Given the description of an element on the screen output the (x, y) to click on. 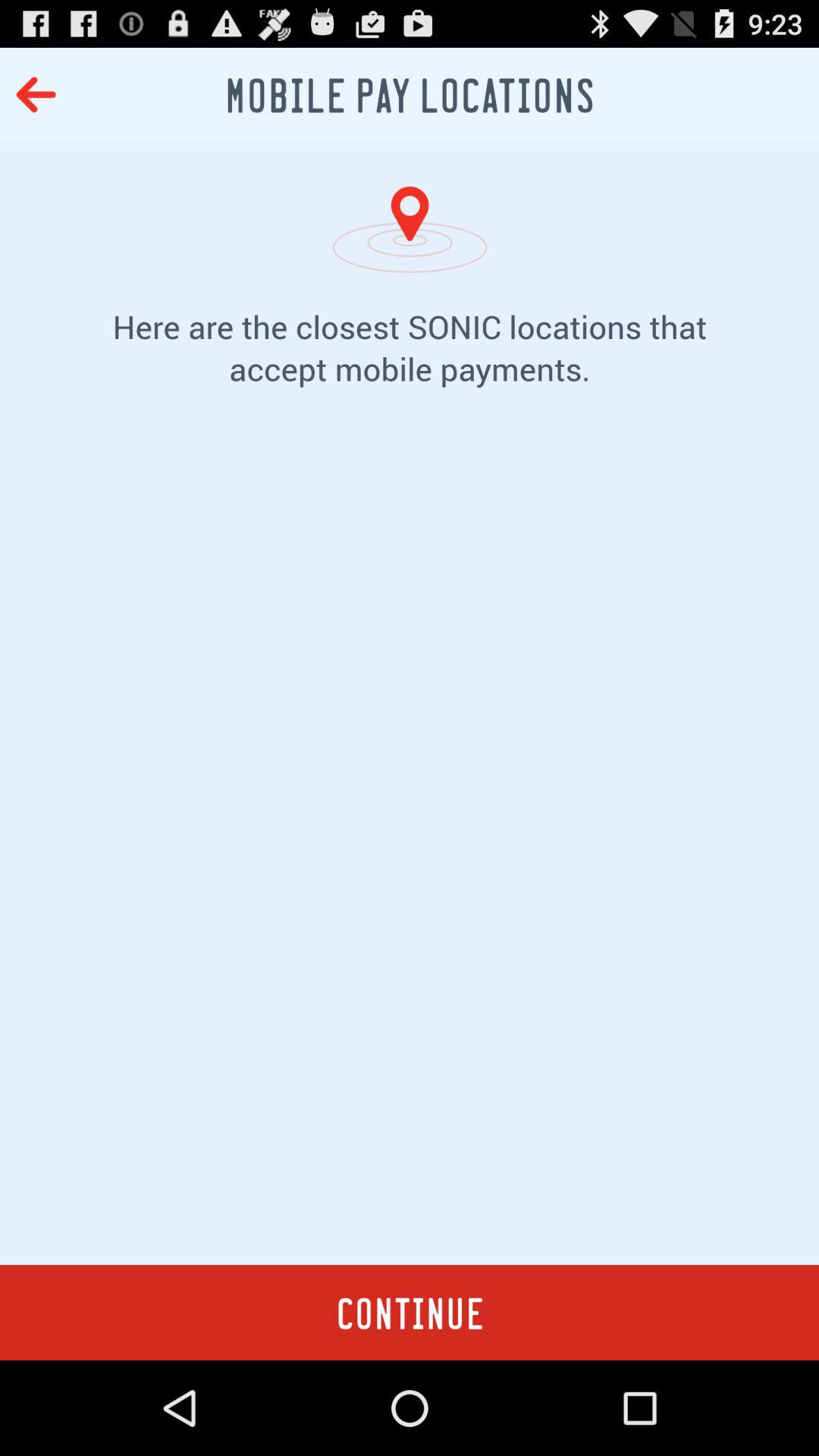
open item below here are the (409, 848)
